Given the description of an element on the screen output the (x, y) to click on. 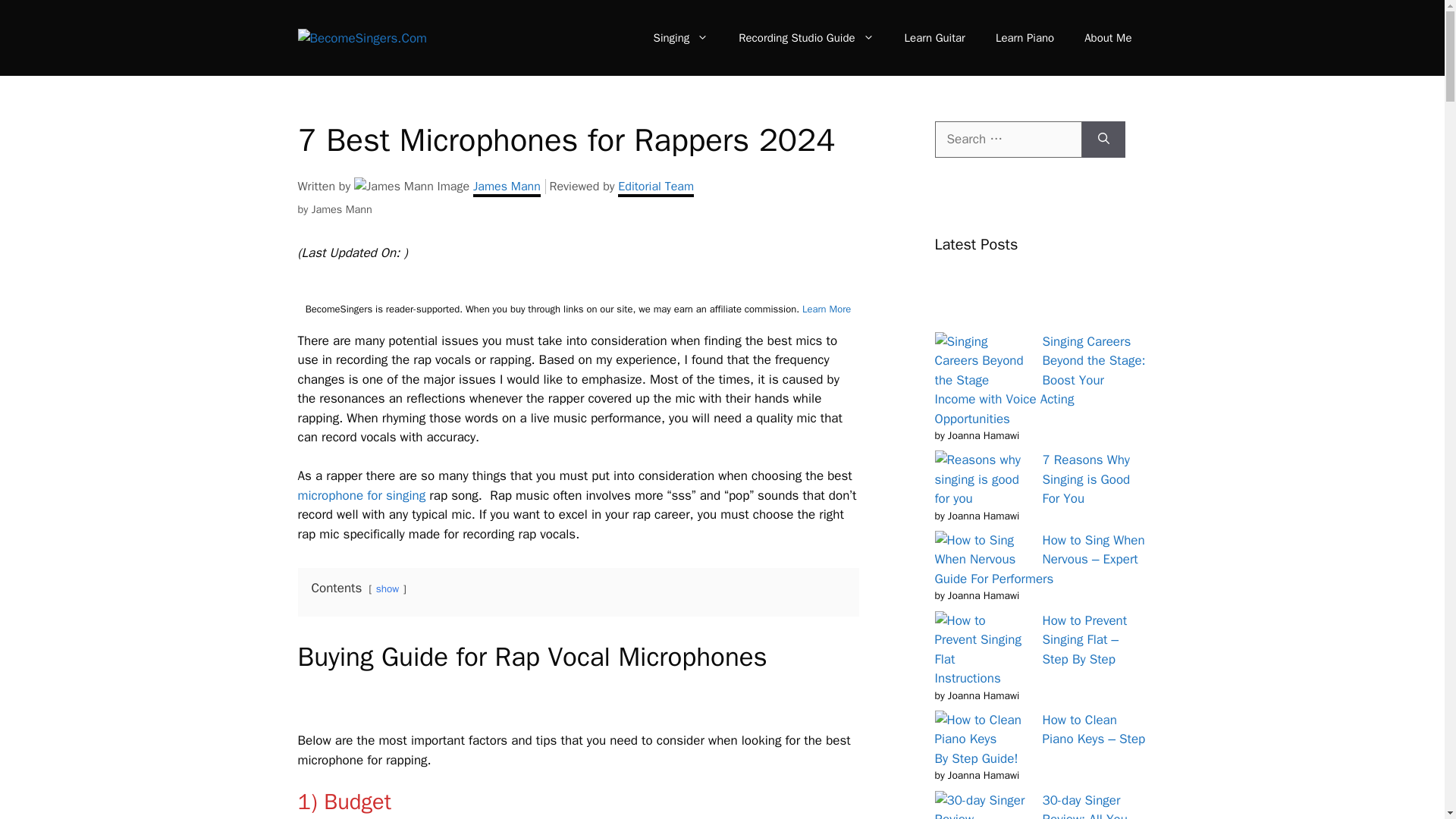
Singing (681, 37)
microphone for singing (361, 495)
Recording Studio Guide (805, 37)
Learn Guitar (934, 37)
About Me (1107, 37)
BecomeSingers.Com (361, 37)
Learn Piano (1023, 37)
show (386, 588)
BecomeSingers.Com (361, 38)
James Mann (508, 188)
